Given the description of an element on the screen output the (x, y) to click on. 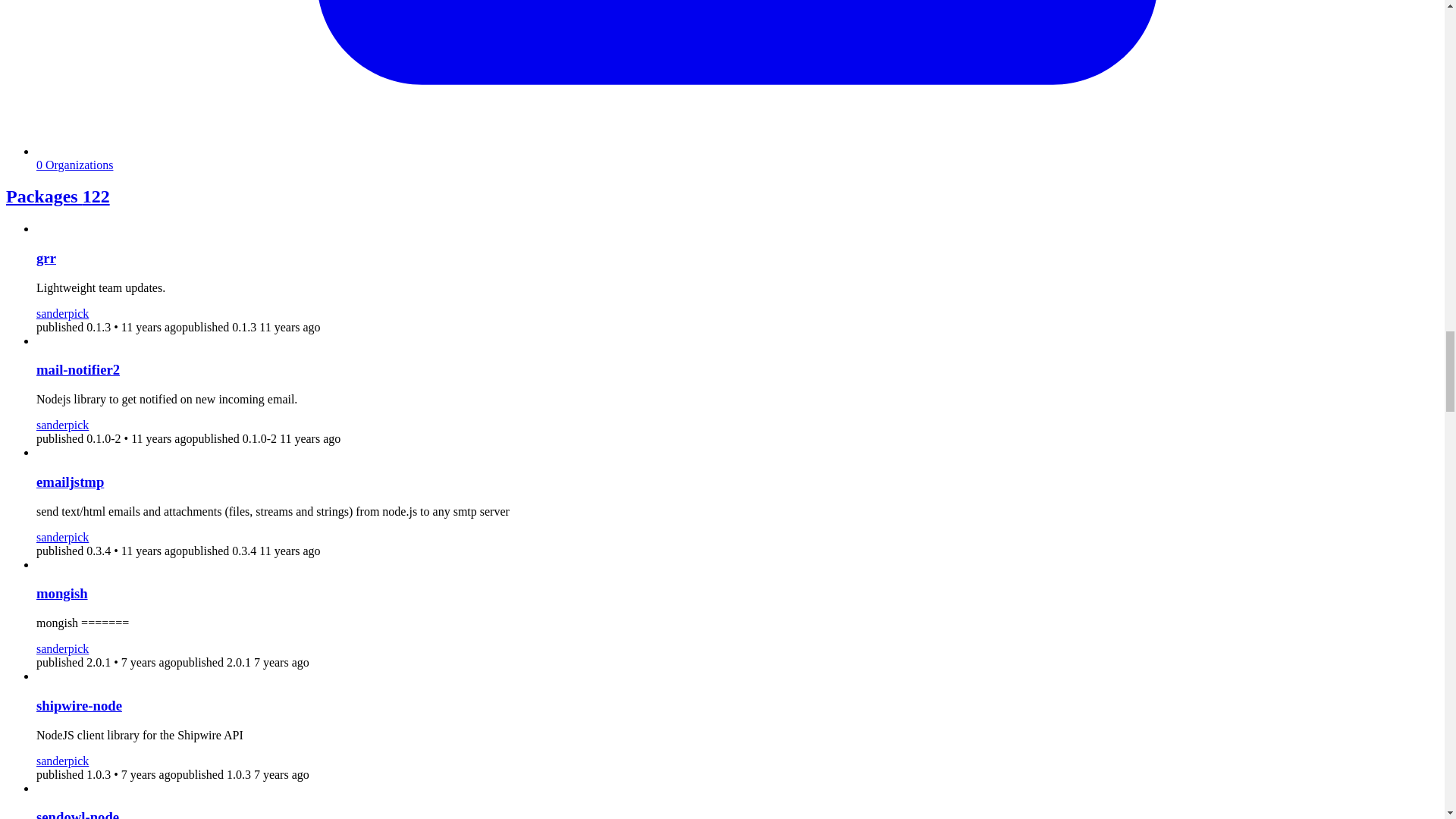
Packages 122 (57, 196)
sanderpick (62, 536)
sanderpick (62, 424)
sanderpick (62, 648)
sanderpick (62, 313)
sanderpick (62, 759)
